Given the description of an element on the screen output the (x, y) to click on. 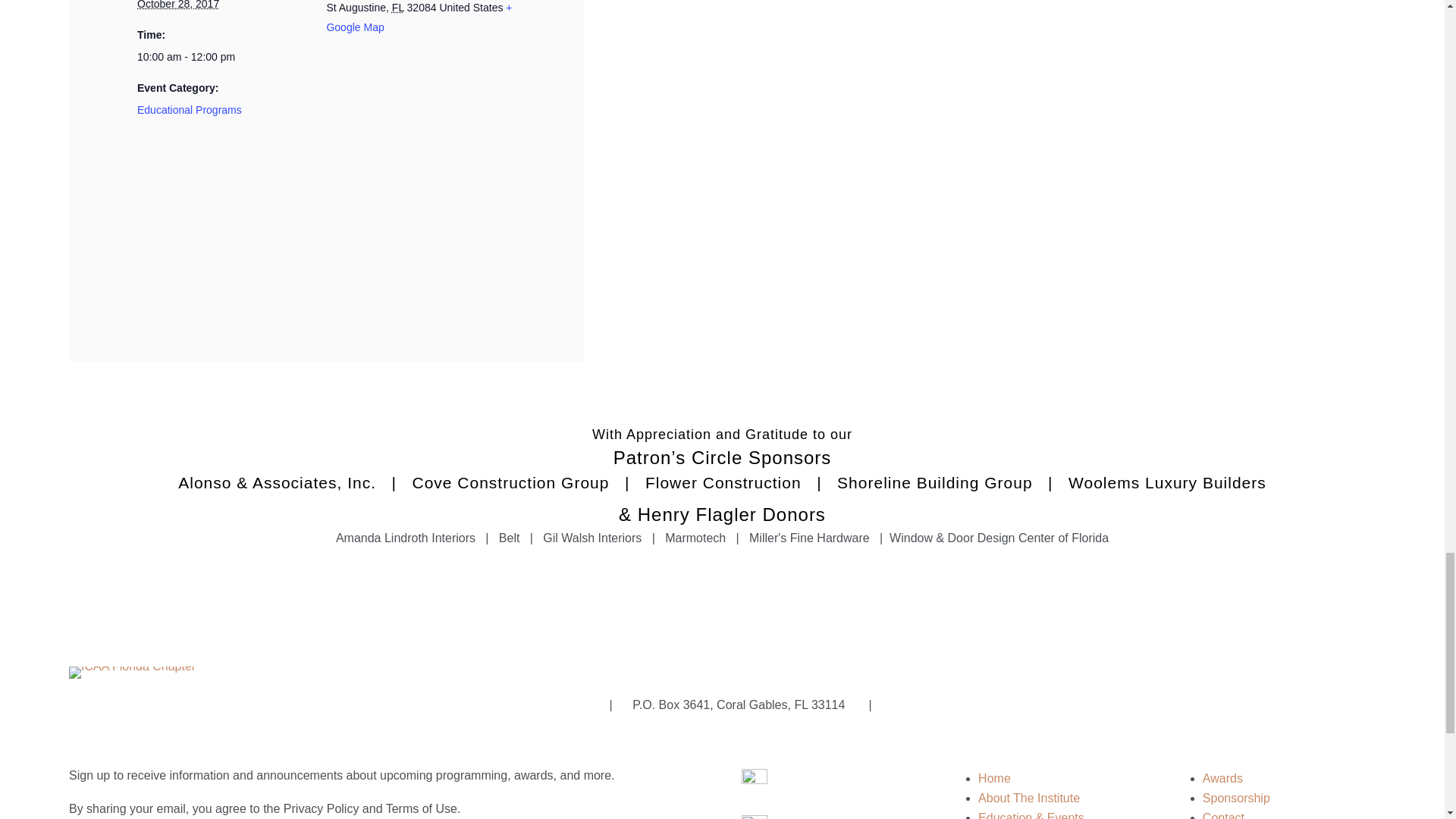
2017-10-28 (177, 4)
vimeo-icon (754, 816)
ICAA Florida Chapter (131, 672)
2017-10-28 (231, 56)
insta-logo (754, 782)
Click to view a Google Map (419, 17)
Florida (397, 7)
